Given the description of an element on the screen output the (x, y) to click on. 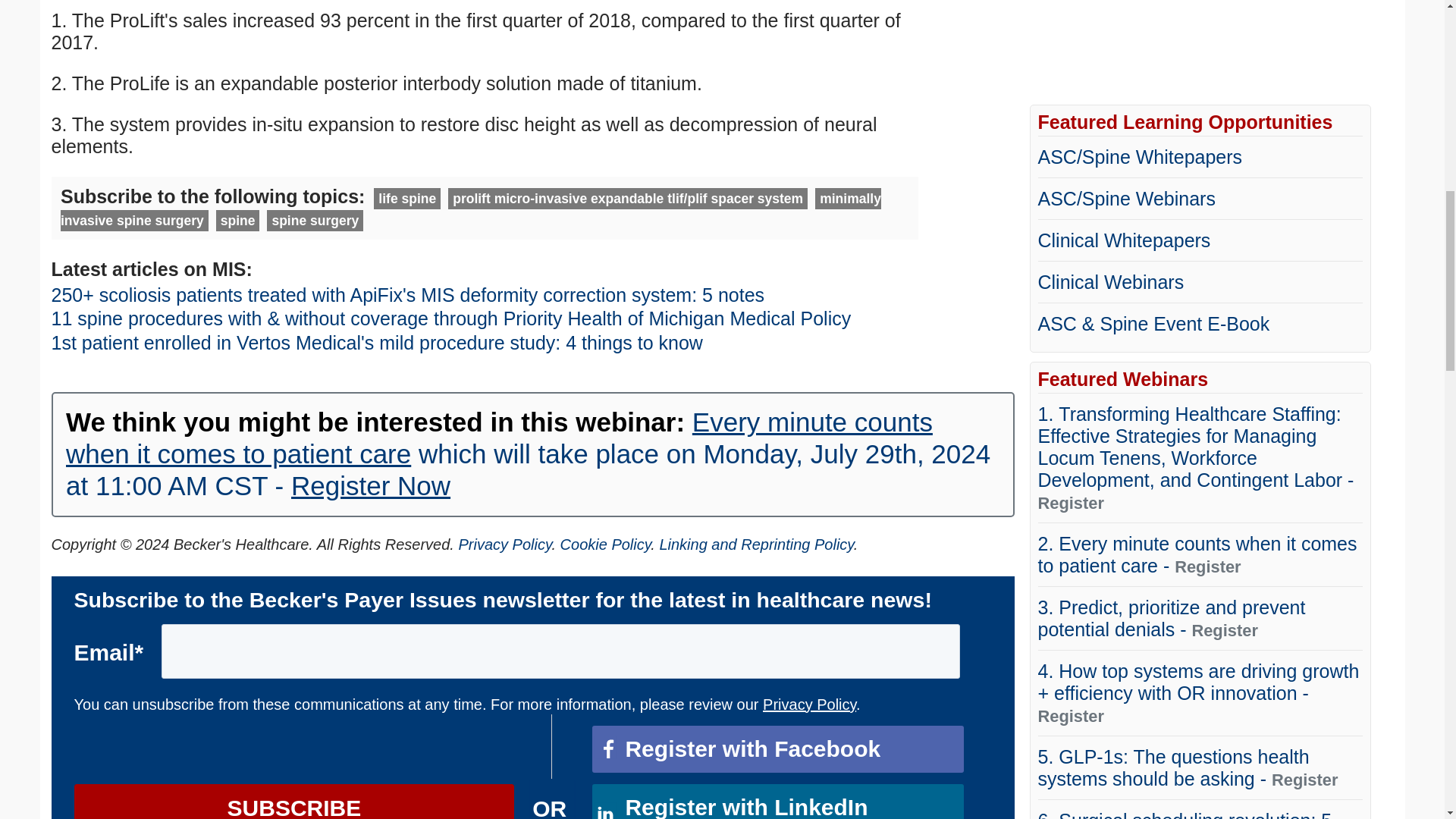
SUBSCRIBE (294, 801)
